Given the description of an element on the screen output the (x, y) to click on. 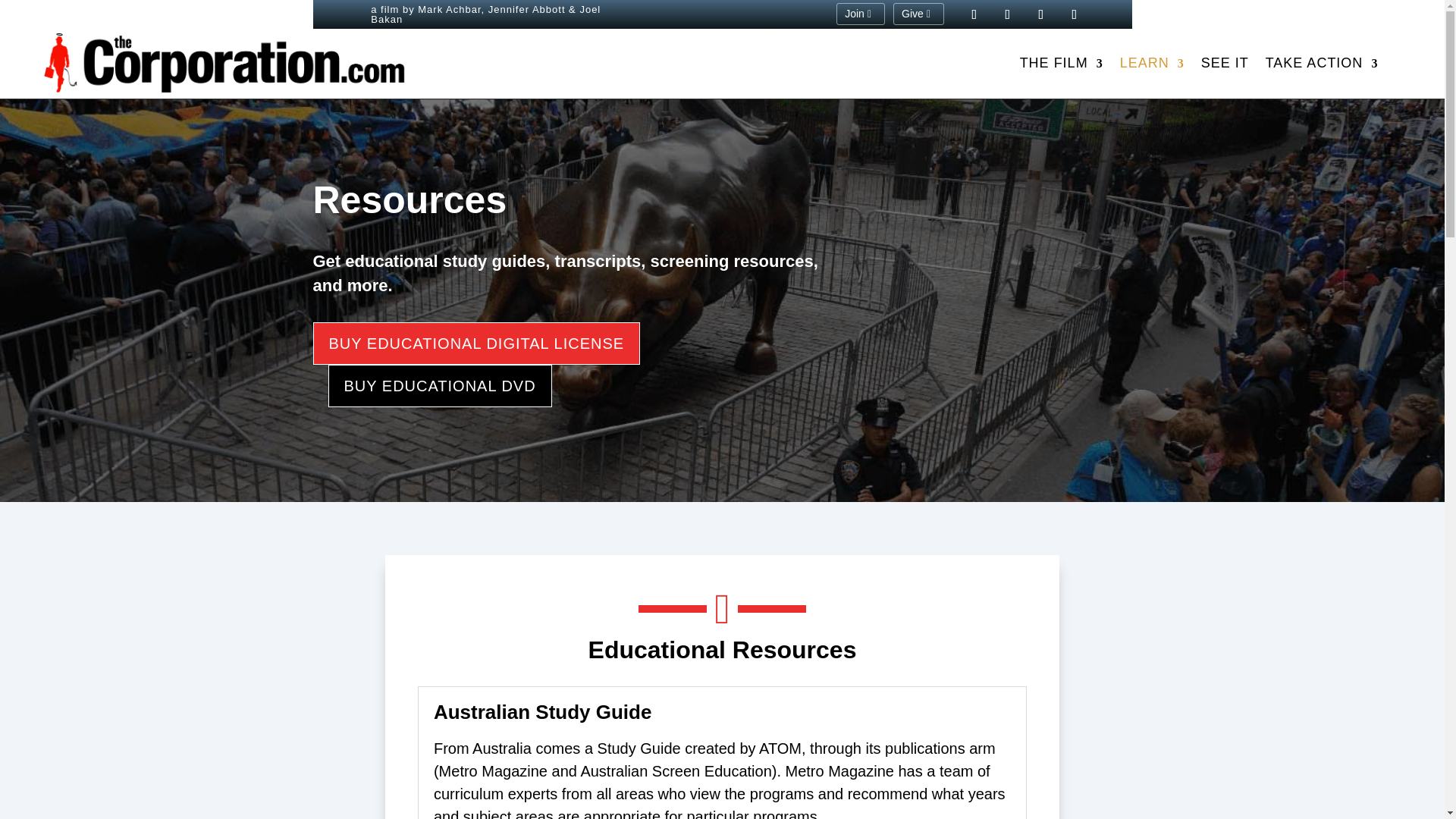
THE FILM (1061, 66)
Follow on Instagram (1074, 13)
TAKE ACTION (1321, 66)
BUY EDUCATIONAL DIGITAL LICENSE (476, 343)
LEARN (1152, 66)
Follow on Youtube (974, 13)
Follow on X (1040, 13)
SEE IT (1225, 66)
BUY EDUCATIONAL DVD (439, 385)
Follow on Facebook (1008, 13)
